Given the description of an element on the screen output the (x, y) to click on. 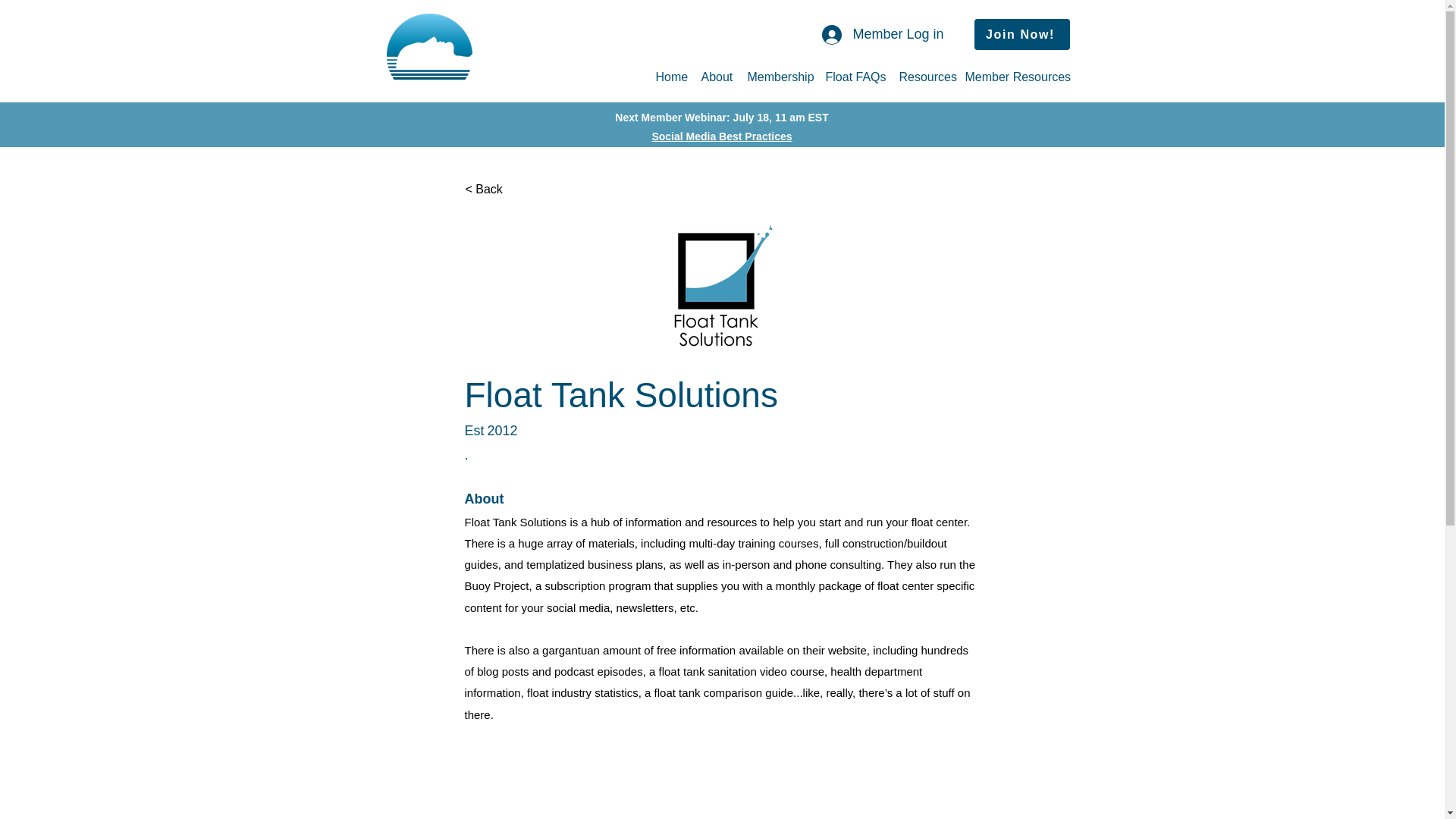
Float Tank Solutions 400x320.png (723, 285)
Member Log in (881, 34)
Float FAQs (853, 77)
Join Now! (1021, 33)
Home (670, 77)
Float Tank Solutions (515, 521)
Social Media Best Practices (721, 136)
About (716, 77)
